Given the description of an element on the screen output the (x, y) to click on. 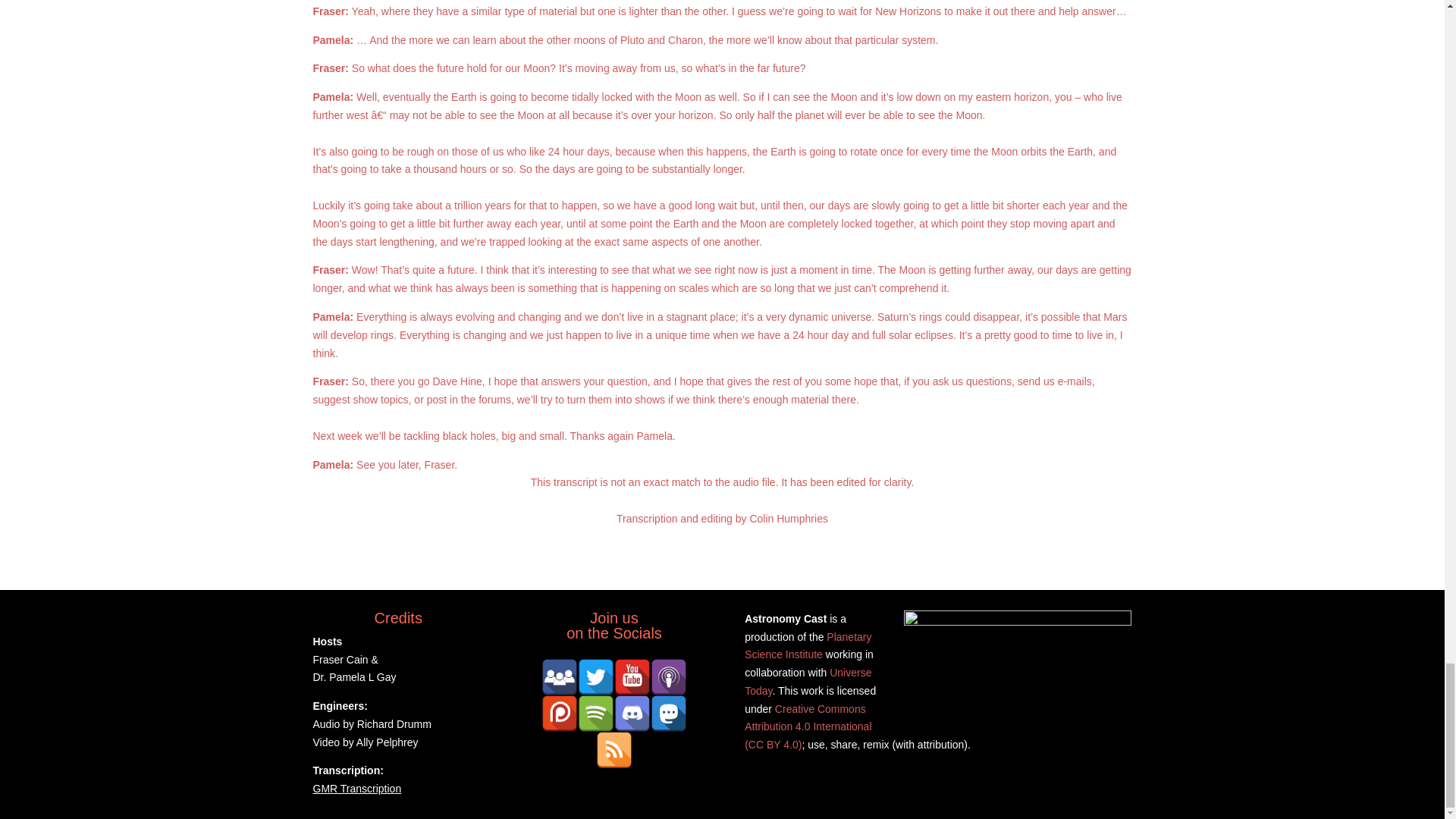
YouTube (632, 677)
iTunes Podcasts (668, 677)
Mastodon (668, 713)
RSS Feed (613, 750)
Patreon (559, 713)
Spotify (596, 713)
GMR Transcription (357, 788)
Universe Today (807, 681)
Twitter (596, 677)
Facebook Group (559, 677)
Planetary Science Institute (807, 644)
Discord (632, 713)
